Given the description of an element on the screen output the (x, y) to click on. 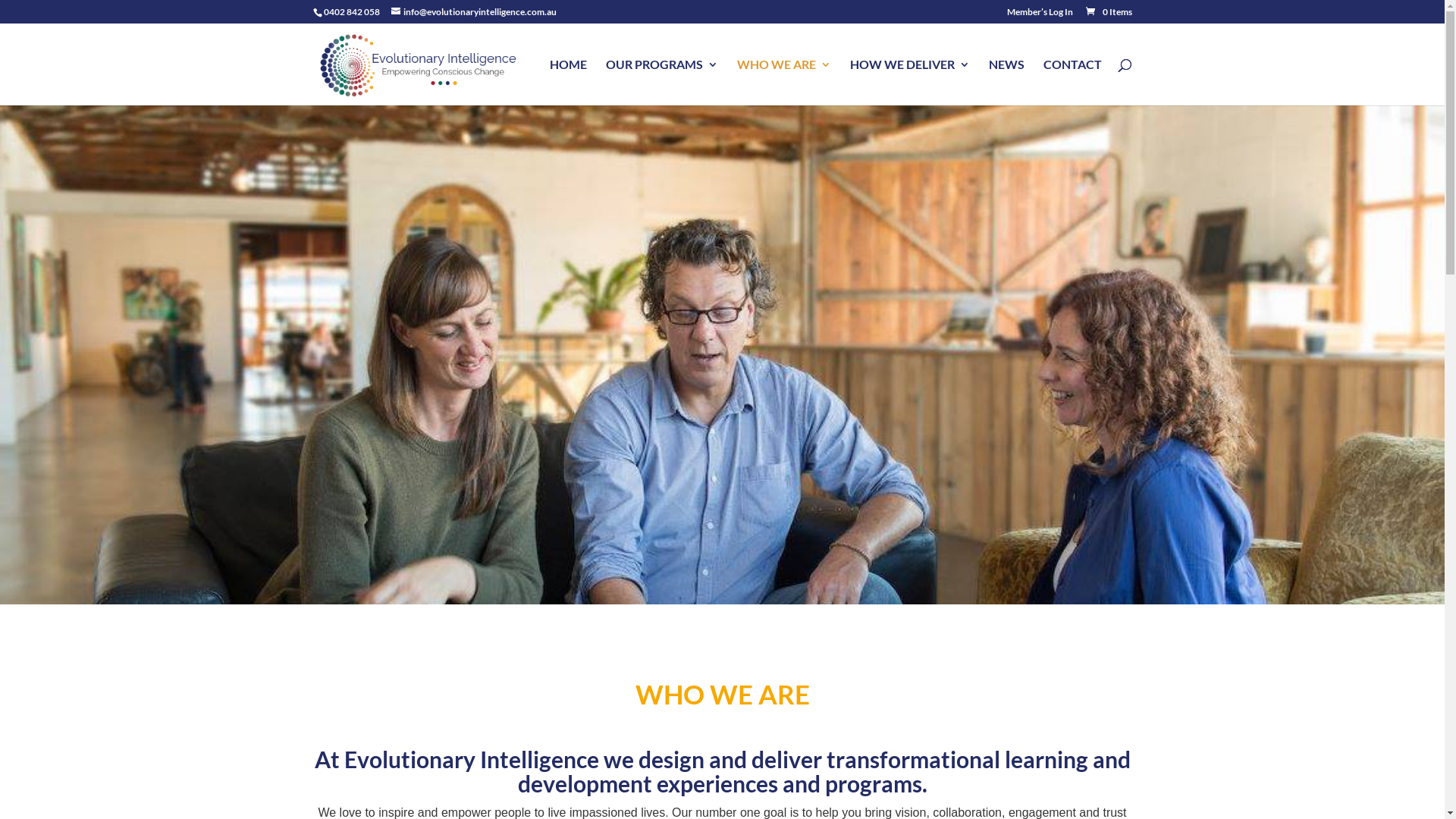
info@evolutionaryintelligence.com.au Element type: text (473, 11)
CONTACT Element type: text (1072, 82)
NEWS Element type: text (1006, 82)
HOME Element type: text (567, 82)
OUR PROGRAMS Element type: text (661, 82)
HOW WE DELIVER Element type: text (909, 82)
0 Items Element type: text (1108, 11)
WHO WE ARE Element type: text (784, 82)
